Given the description of an element on the screen output the (x, y) to click on. 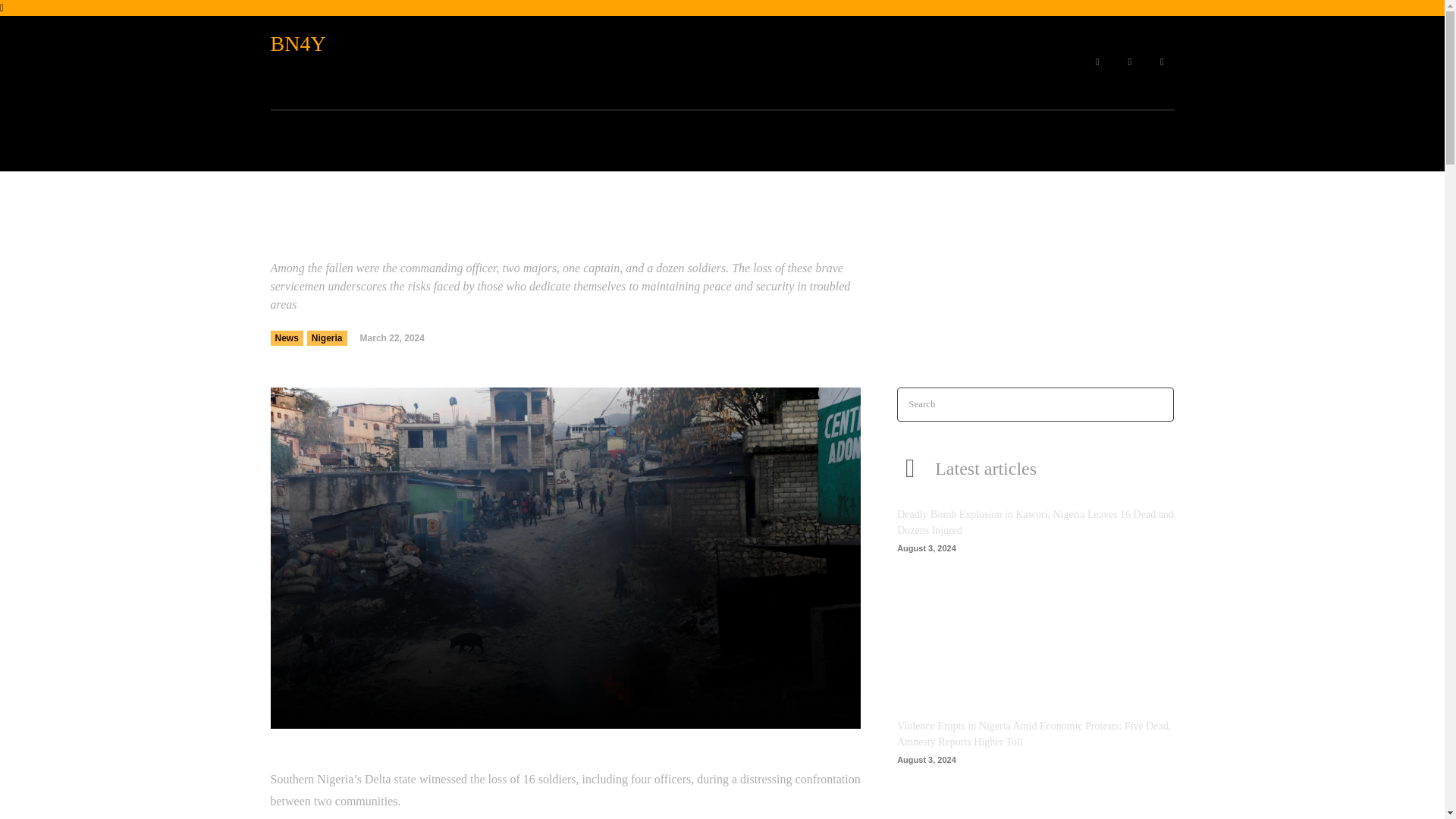
Facebook (1096, 62)
BN4Y (345, 44)
Nigeria (327, 337)
Instagram (1130, 62)
News (285, 337)
Twitter (1162, 62)
